Given the description of an element on the screen output the (x, y) to click on. 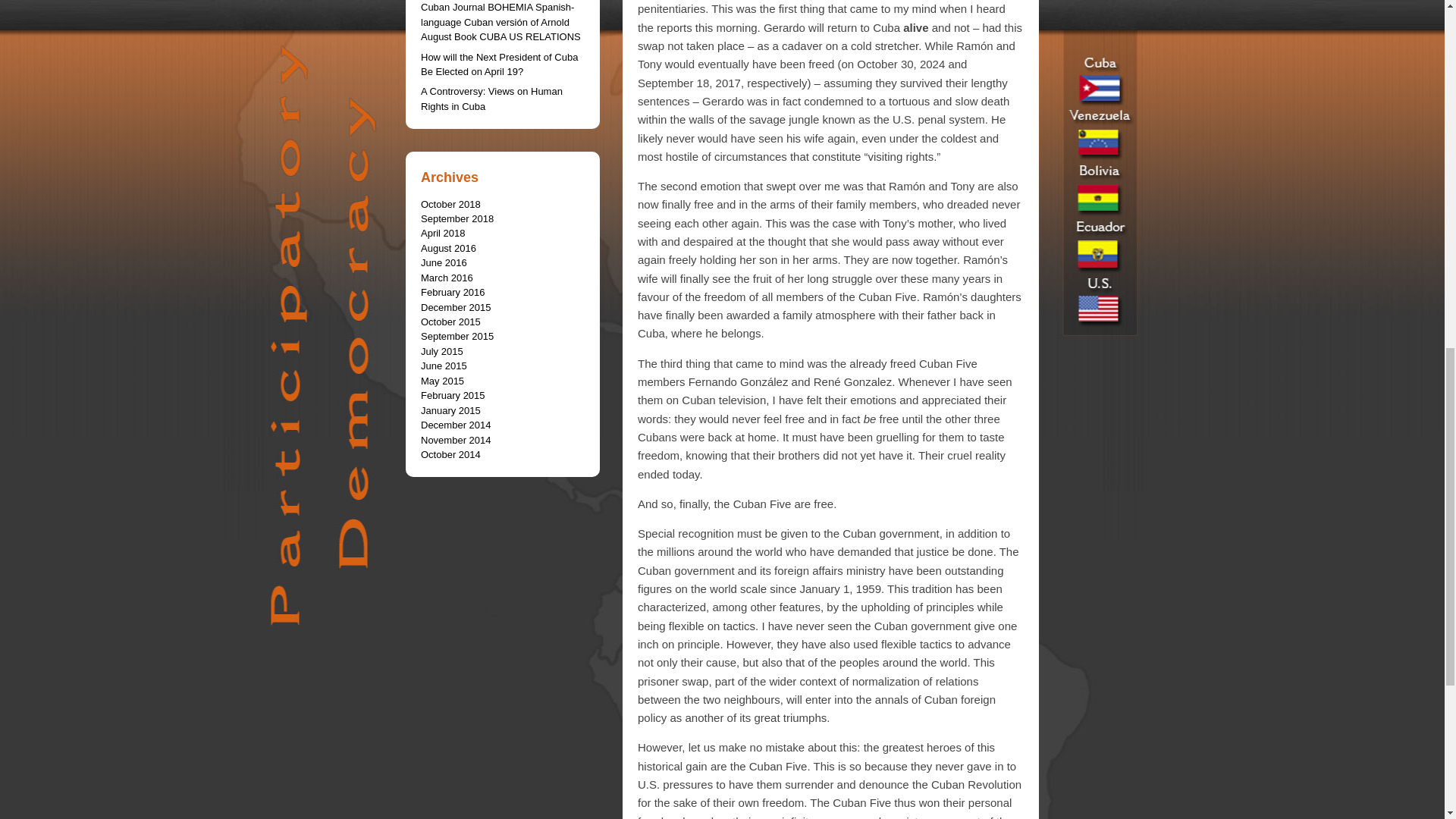
March 2016 (446, 277)
How will the Next President of Cuba Be Elected on April 19? (499, 63)
June 2016 (443, 262)
April 2018 (442, 233)
August 2016 (448, 247)
February 2016 (452, 292)
December 2015 (456, 307)
A Controversy: Views on Human Rights in Cuba (491, 98)
October 2018 (450, 204)
September 2018 (456, 218)
